Given the description of an element on the screen output the (x, y) to click on. 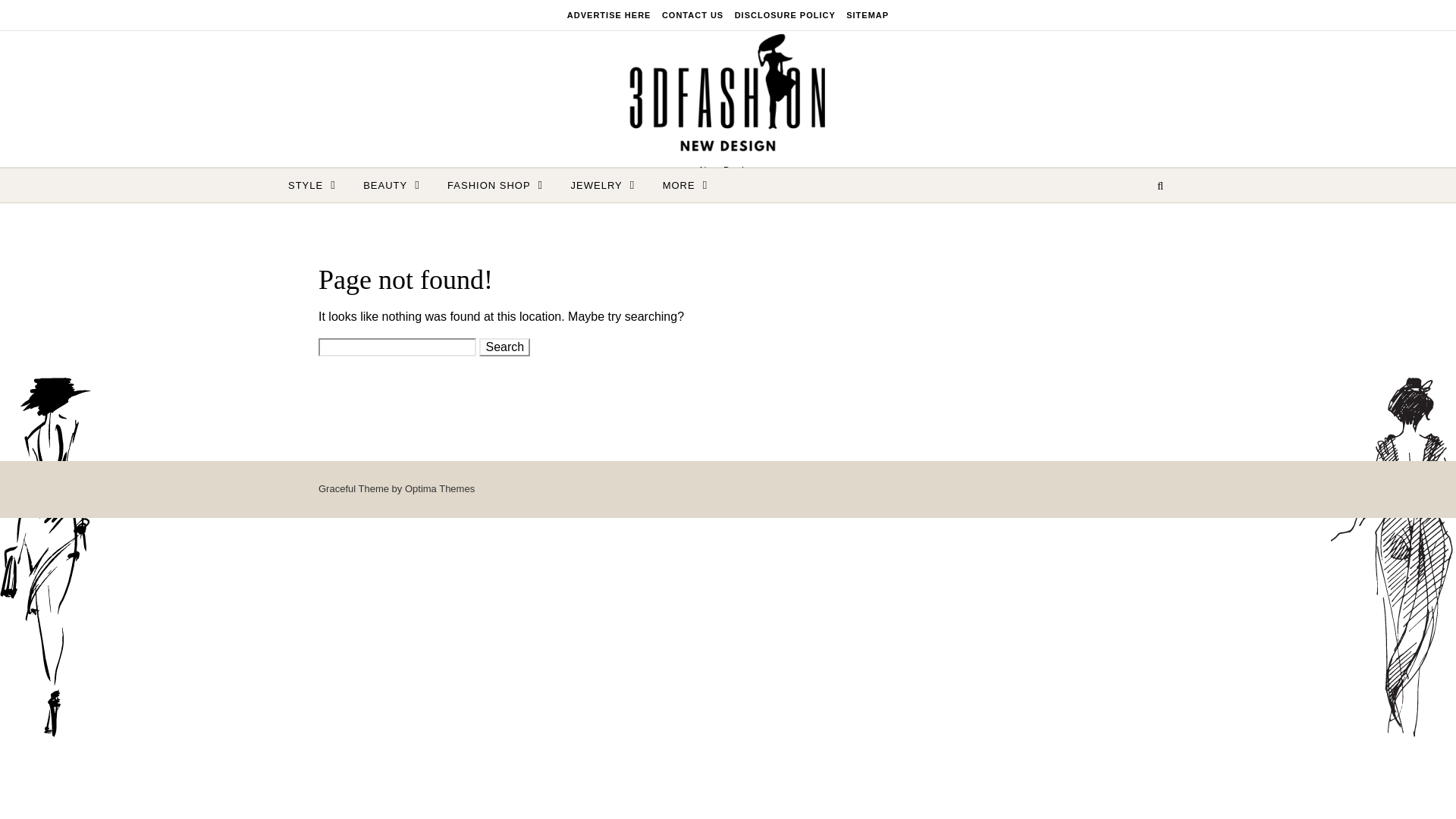
JEWELRY (603, 185)
STYLE (317, 185)
MORE (678, 185)
Search (504, 347)
CONTACT US (692, 15)
BEAUTY (391, 185)
DISCLOSURE POLICY (785, 15)
FASHION SHOP (494, 185)
3D FASHION (727, 96)
SITEMAP (865, 15)
ADVERTISE HERE (611, 15)
